Given the description of an element on the screen output the (x, y) to click on. 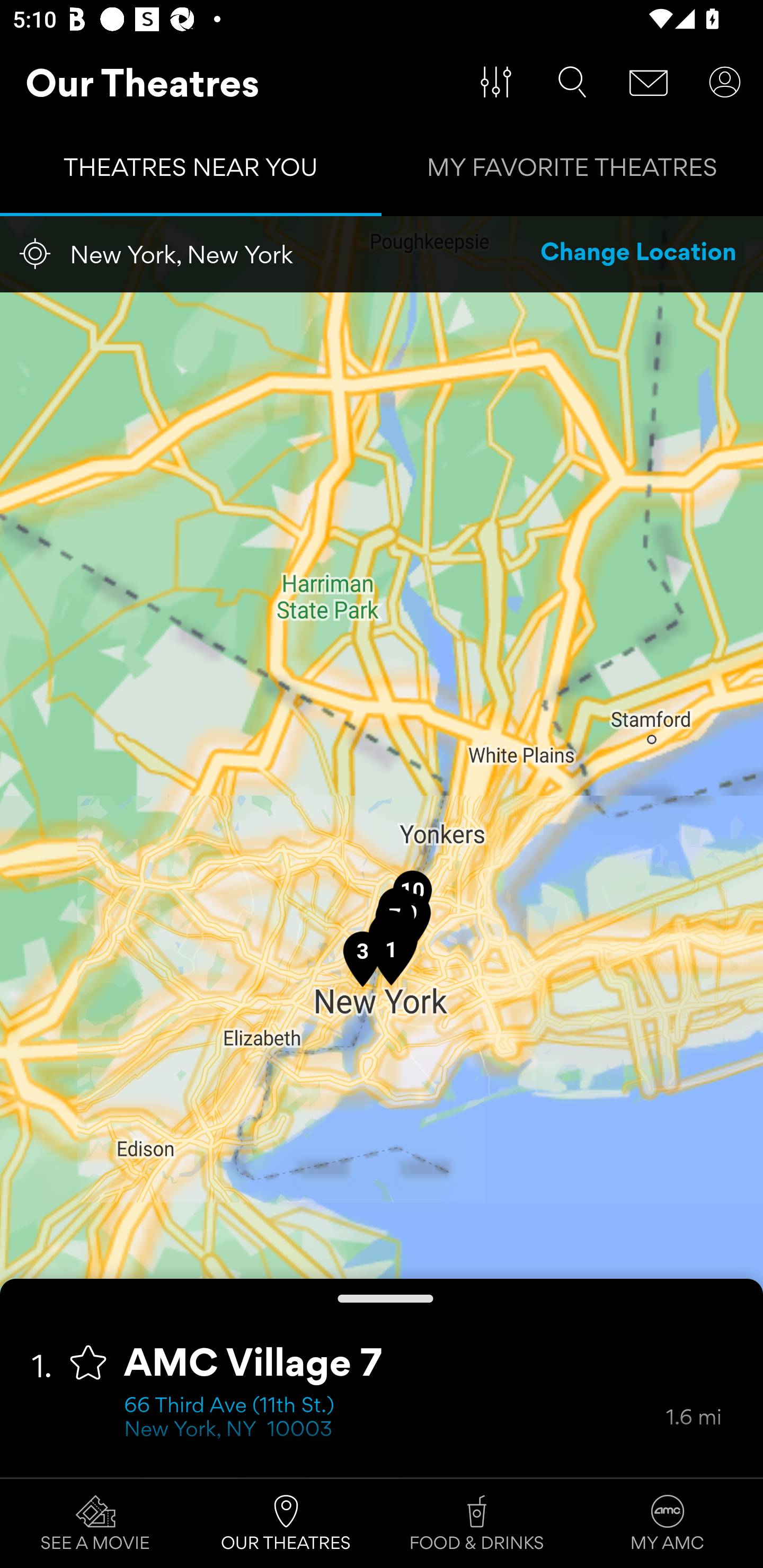
Filter Theatres (495, 82)
Search (572, 82)
Message Center (648, 82)
User Account (724, 82)
THEATRES NEAR YOU
Tab 1 of 2 (190, 171)
MY FAVORITE THEATRES
Tab 2 of 2 (572, 171)
Change Location (639, 253)
66 Third Ave (11th St.)  
New York, NY  10003 (394, 1418)
SEE A MOVIE
Tab 1 of 4 (95, 1523)
OUR THEATRES
Tab 2 of 4 (285, 1523)
FOOD & DRINKS
Tab 3 of 4 (476, 1523)
MY AMC
Tab 4 of 4 (667, 1523)
